Given the description of an element on the screen output the (x, y) to click on. 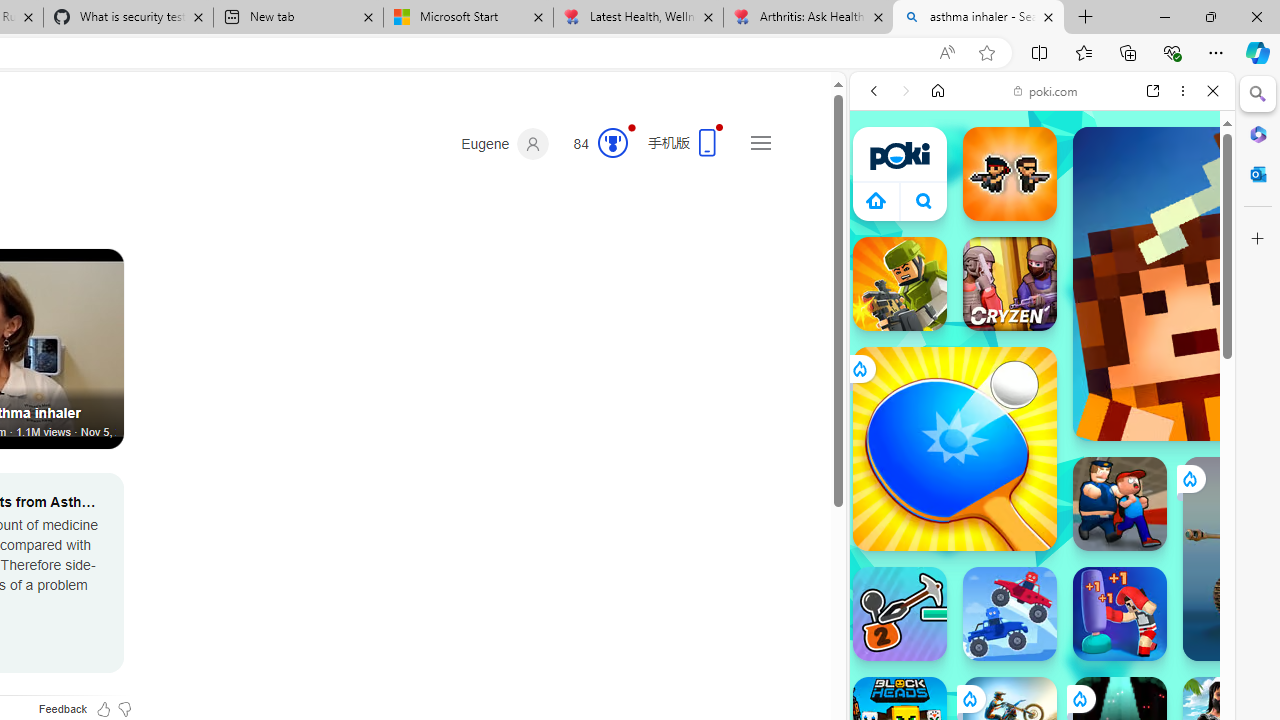
AutomationID: rh_meter (612, 142)
Kour.io Kour.io (899, 283)
Show More Io Games (1164, 619)
Stickman Climb 2 Stickman Climb 2 (899, 613)
Shooting Games (1042, 519)
asthma inhaler - Search (978, 17)
Io Games (1042, 616)
Class: aprWdaSScyiJf4Jvmsx9 (875, 200)
Punch Legend Simulator Punch Legend Simulator (1119, 613)
